Given the description of an element on the screen output the (x, y) to click on. 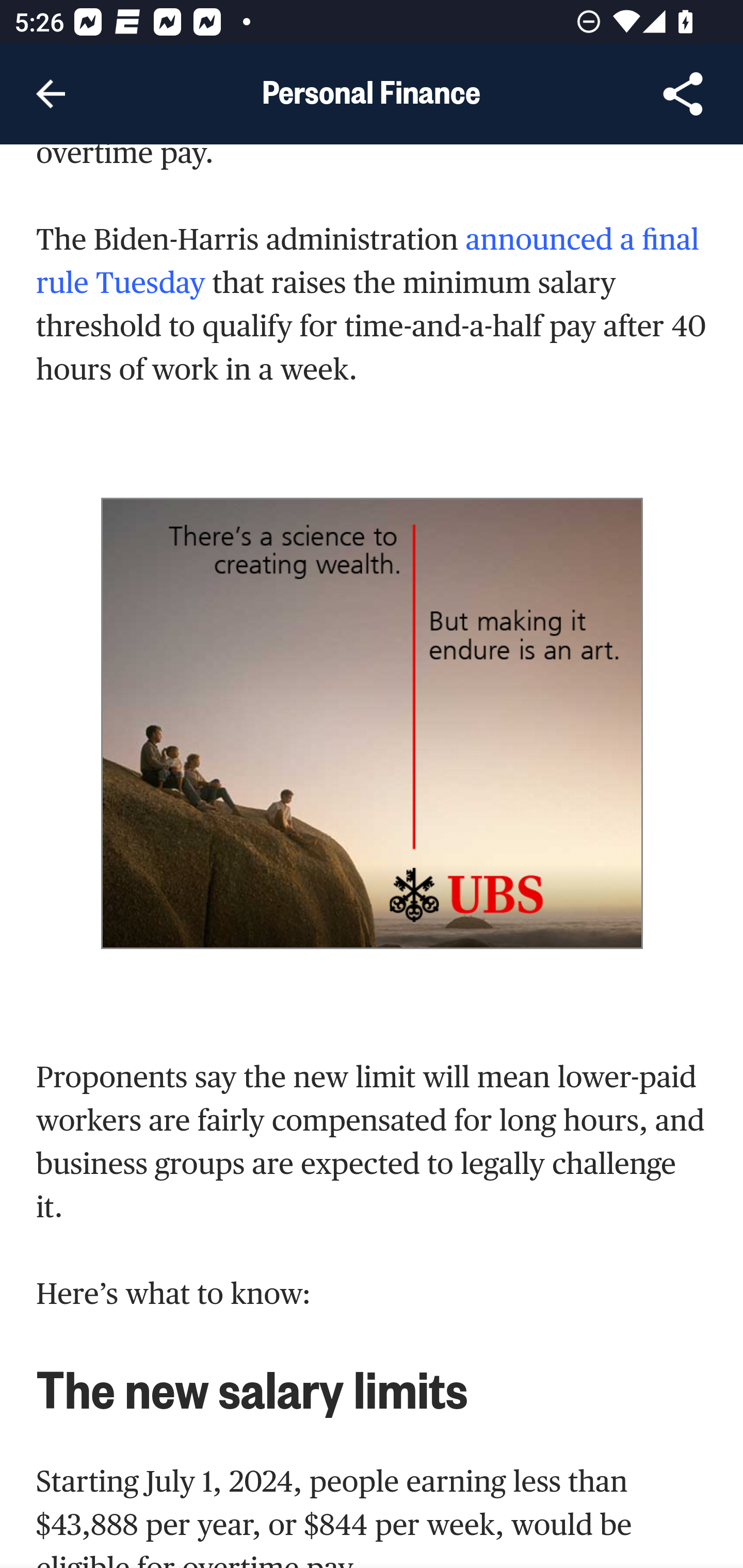
Navigate up (50, 93)
Share Article, button (683, 94)
announced a final rule Tuesday (368, 261)
